Given the description of an element on the screen output the (x, y) to click on. 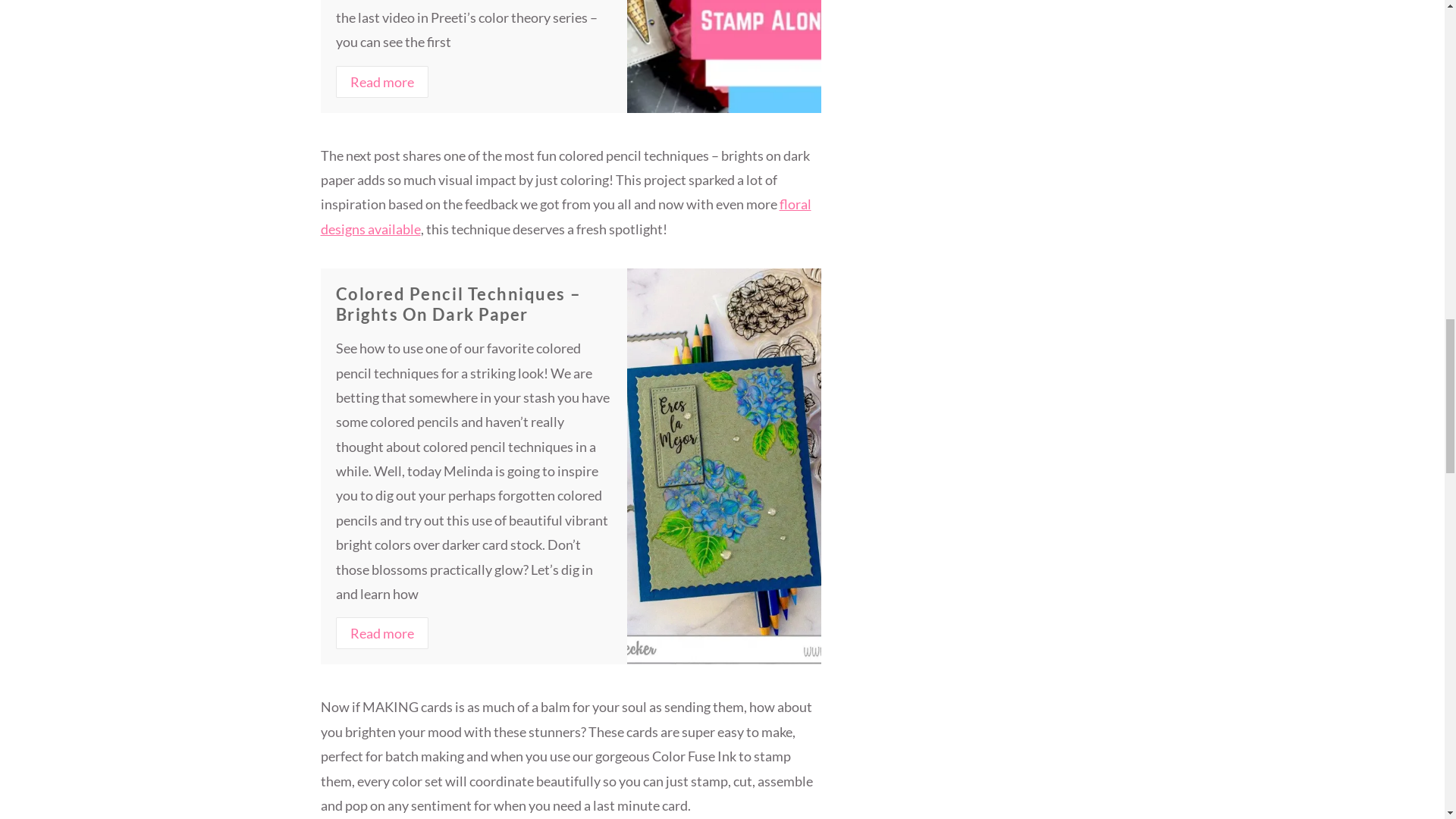
Read more (381, 81)
floral designs available (565, 215)
Read more (381, 633)
